Given the description of an element on the screen output the (x, y) to click on. 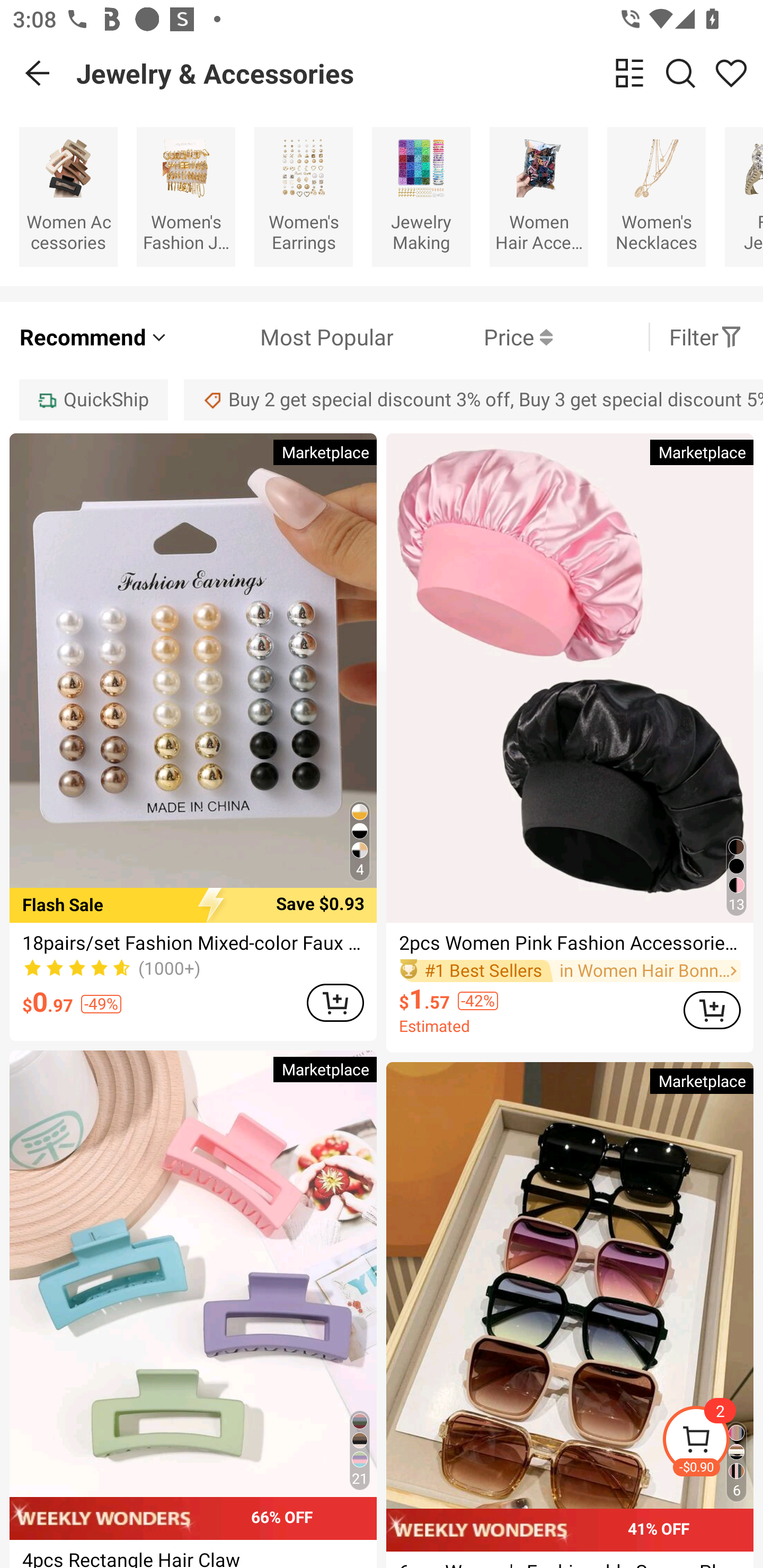
Jewelry & Accessories change view Search Share (419, 72)
change view (629, 72)
Search (679, 72)
Share (730, 72)
Women Accessories (68, 196)
Women's Fashion Jewelry (185, 196)
Women's Earrings (303, 196)
Jewelry Making (421, 196)
Women Hair Accessories (538, 196)
Women's Necklaces (656, 196)
Recommend (94, 336)
Most Popular (280, 336)
Price (472, 336)
Filter (705, 336)
QuickShip (93, 399)
#1 Best Sellers in Women Hair Bonnets (569, 970)
ADD TO CART (334, 1002)
ADD TO CART (711, 1009)
-$0.90 (712, 1441)
